Given the description of an element on the screen output the (x, y) to click on. 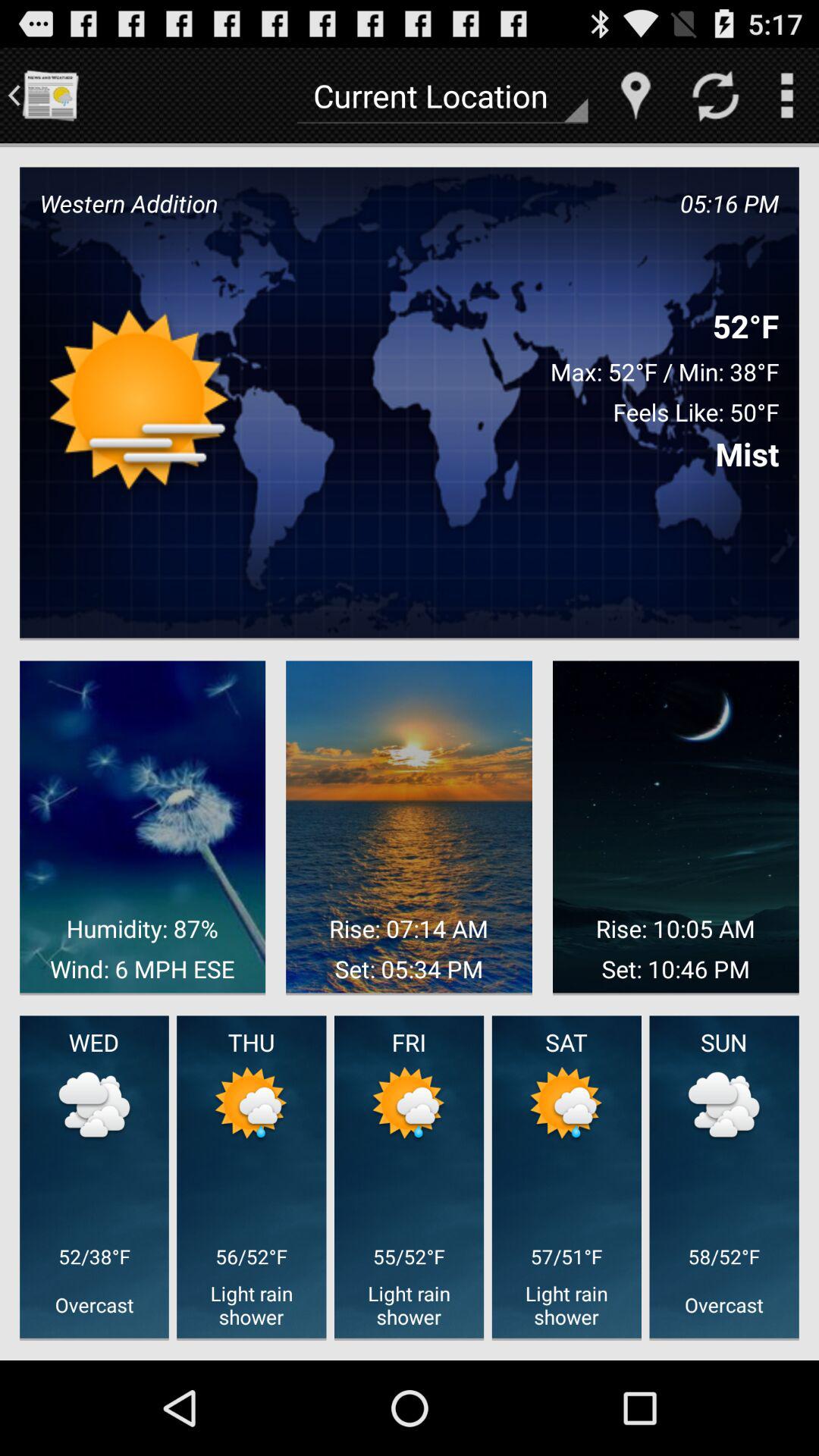
open menu (787, 95)
